Given the description of an element on the screen output the (x, y) to click on. 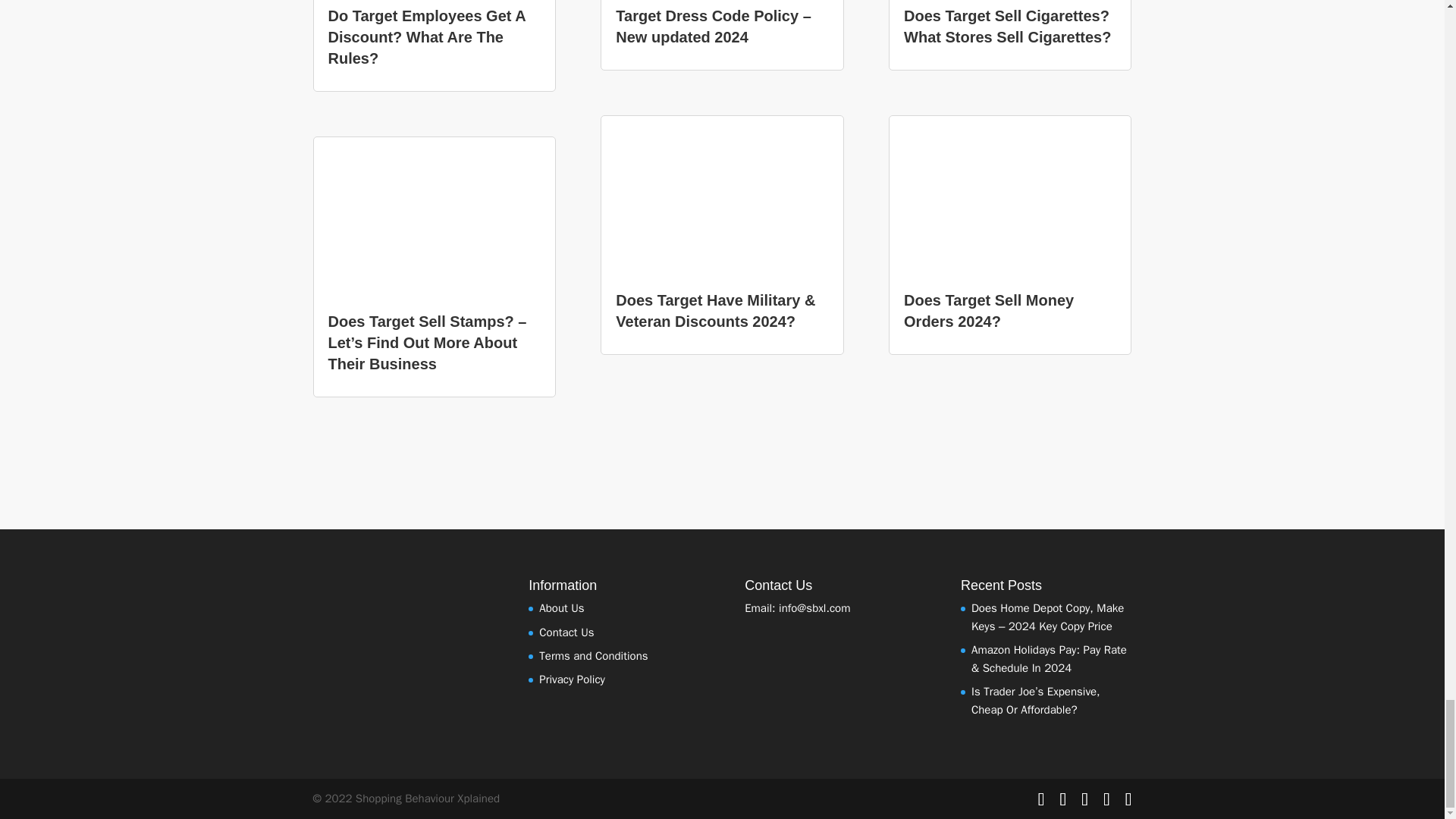
DMCA.com Protection Status (369, 723)
